Given the description of an element on the screen output the (x, y) to click on. 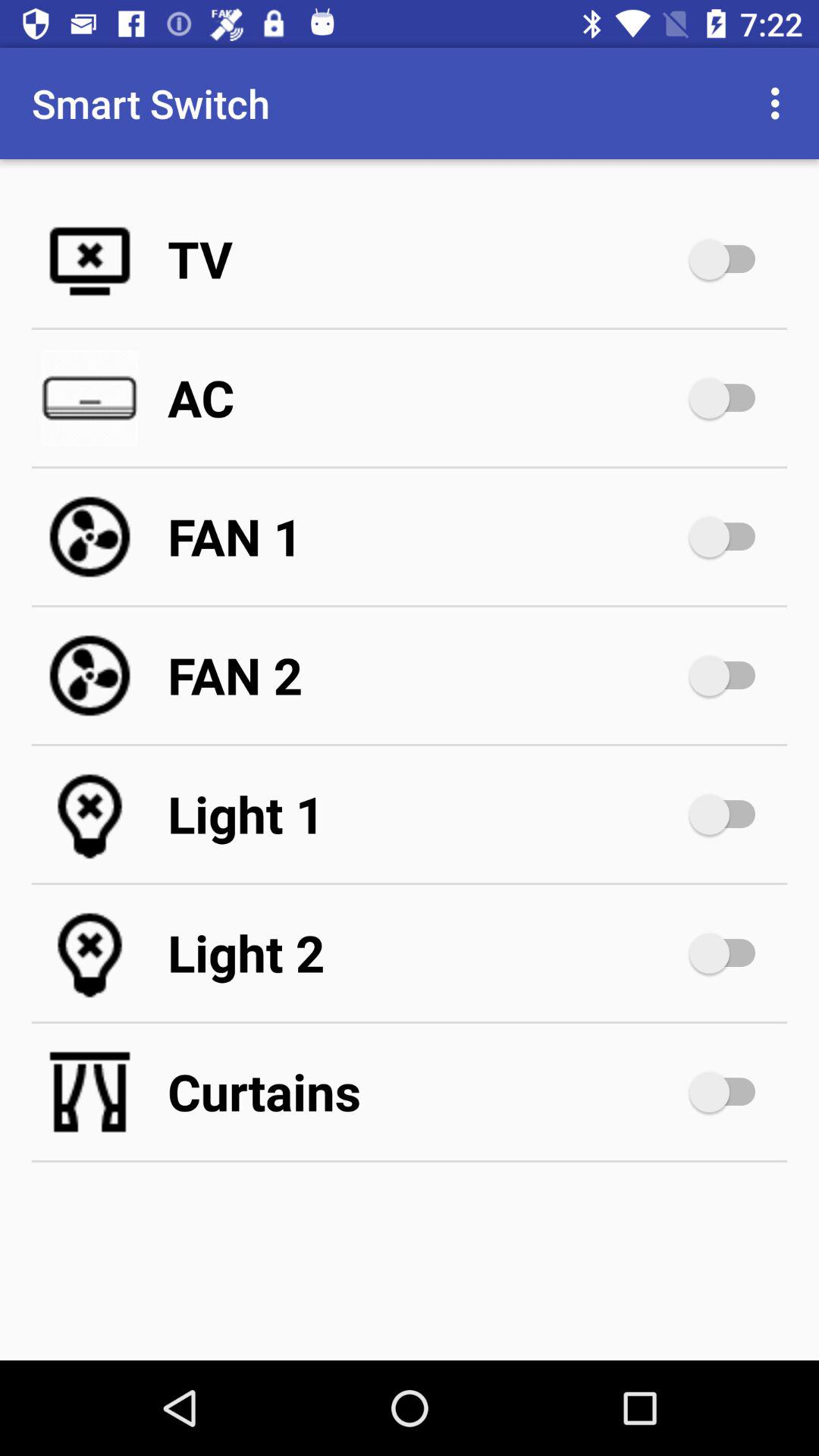
switch on lightt 2 (729, 953)
